Given the description of an element on the screen output the (x, y) to click on. 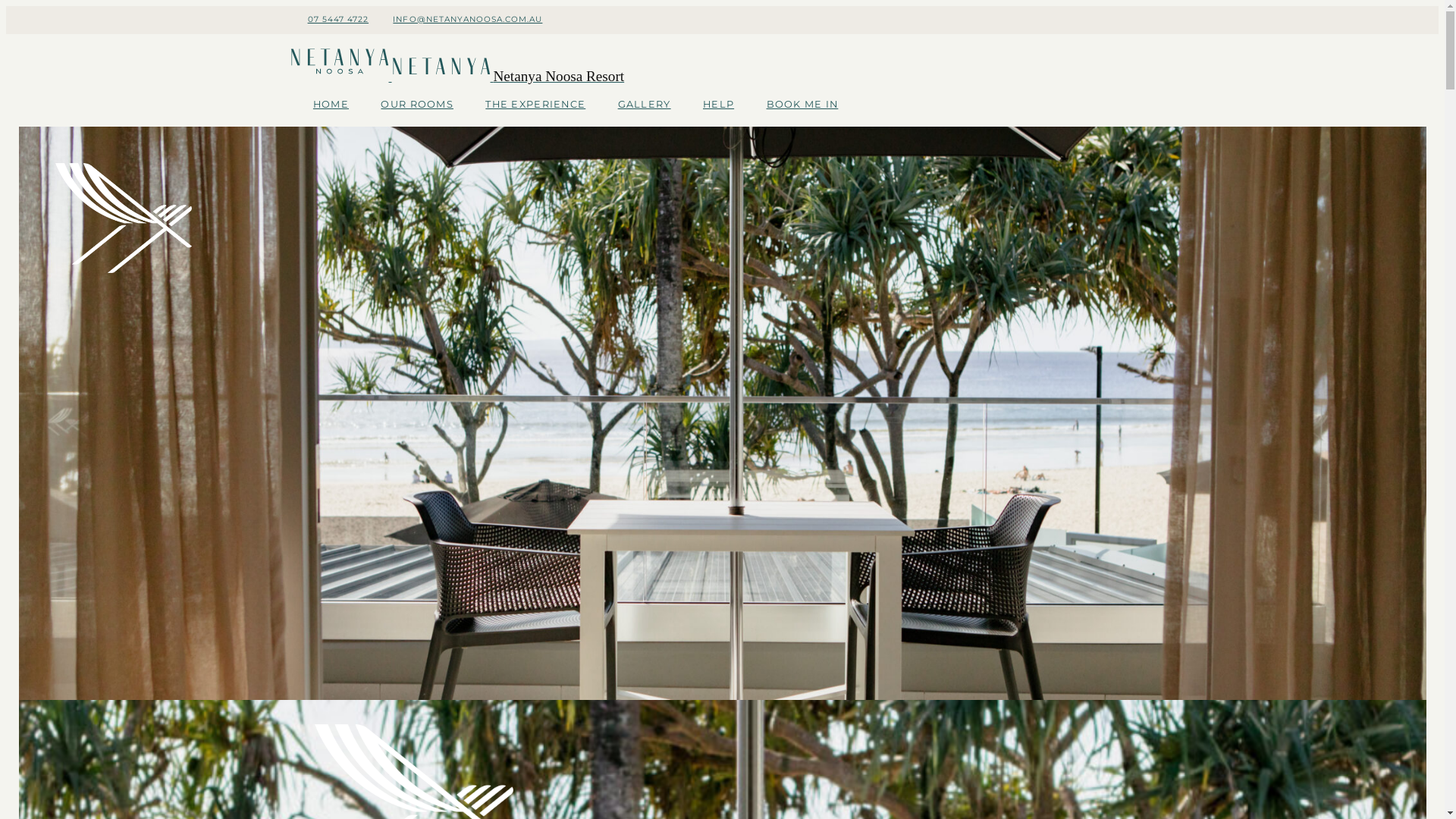
BOOK ME IN Element type: text (802, 104)
07 5447 4722 Element type: text (337, 19)
THE EXPERIENCE Element type: text (535, 104)
OUR ROOMS Element type: text (416, 104)
Netanya Noosa Resort Element type: text (456, 76)
HOME Element type: text (330, 104)
INFO@NETANYANOOSA.COM.AU Element type: text (467, 19)
GALLERY Element type: text (644, 104)
HELP Element type: text (718, 104)
